Given the description of an element on the screen output the (x, y) to click on. 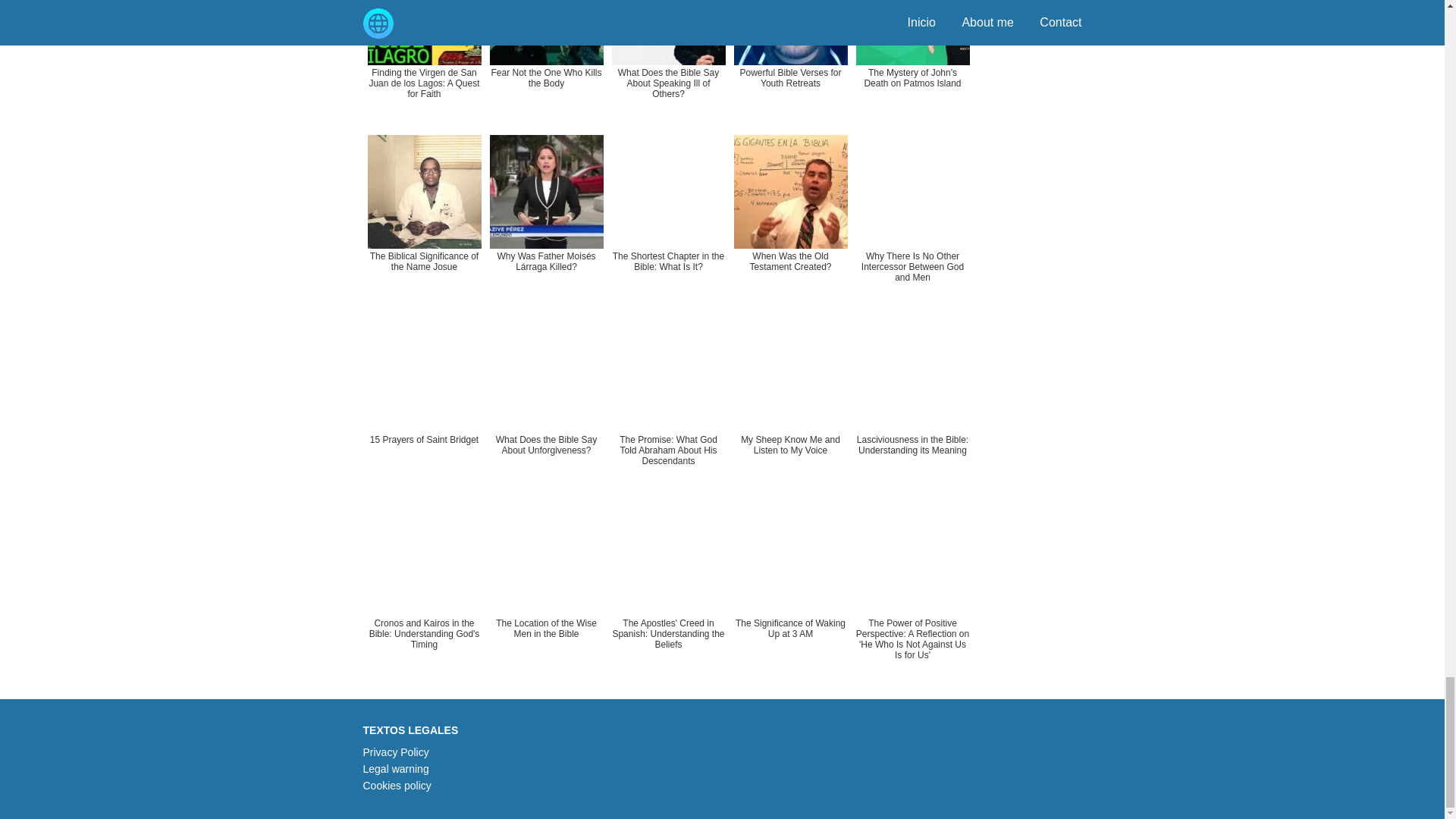
Powerful Bible Verses for Youth Retreats (790, 63)
Privacy Policy (395, 752)
The Mystery of John's Death on Patmos Island (912, 63)
Legal warning (395, 768)
Fear Not the One Who Kills the Body (546, 63)
What Does the Bible Say About Speaking Ill of Others? (668, 63)
Cookies policy (396, 785)
